Given the description of an element on the screen output the (x, y) to click on. 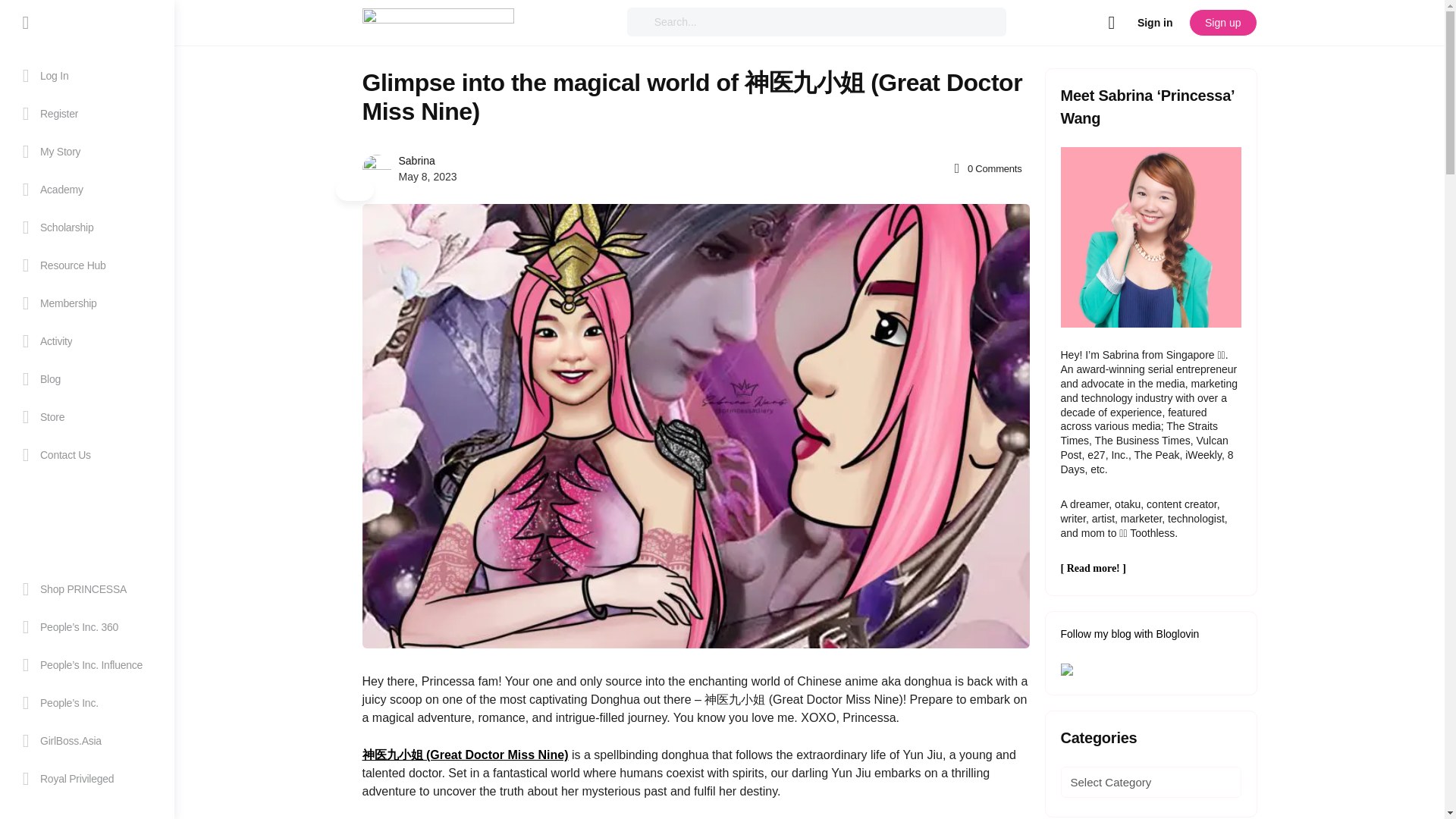
Contact Us (87, 454)
Activity (87, 341)
Royal Privileged (87, 778)
My Story (87, 151)
Membership (87, 303)
Log In (87, 75)
Register (87, 113)
Shop PRINCESSA (87, 589)
Scholarship (87, 227)
Sign up (1222, 22)
